Given the description of an element on the screen output the (x, y) to click on. 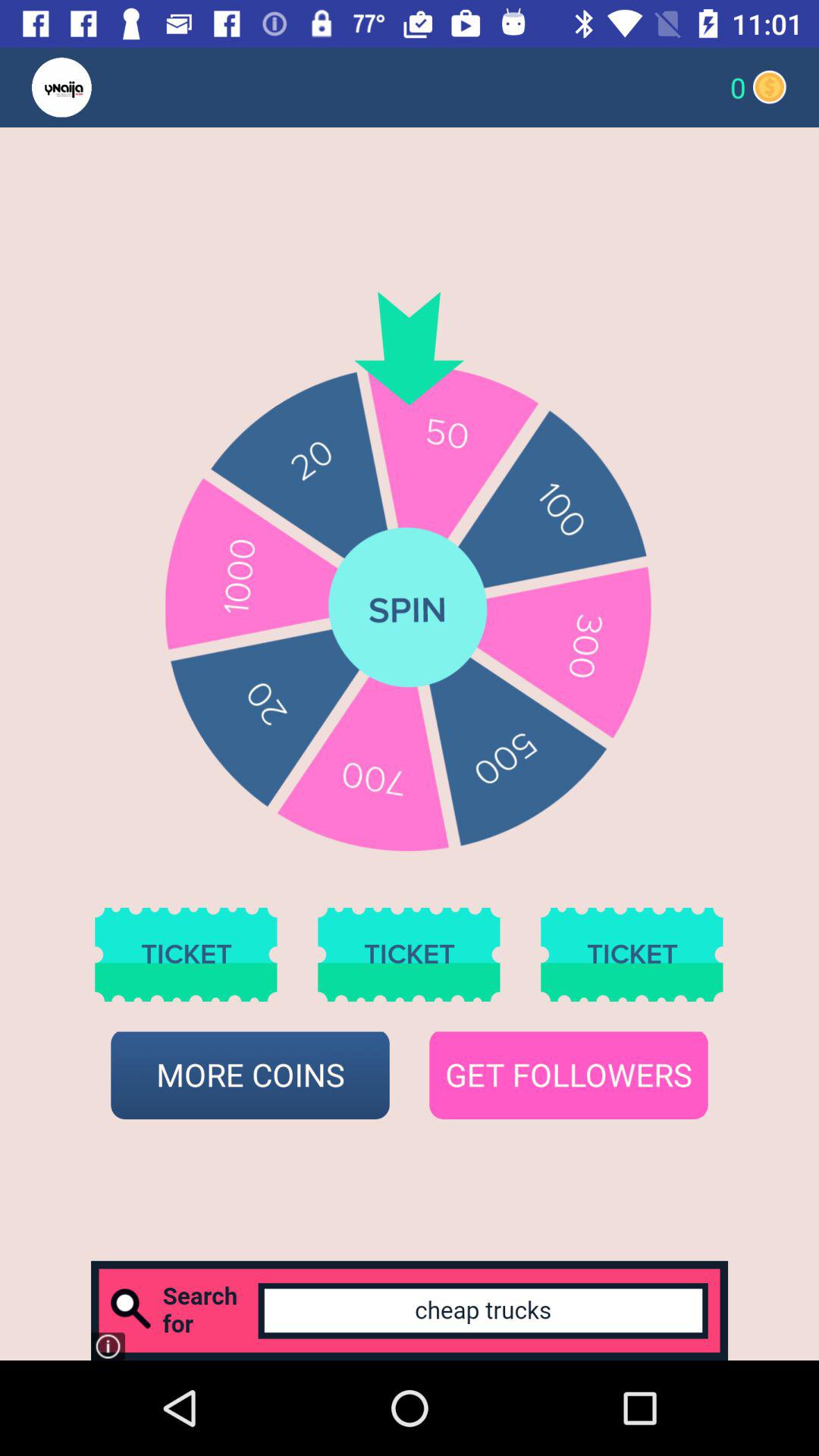
return to main screen (91, 87)
